Given the description of an element on the screen output the (x, y) to click on. 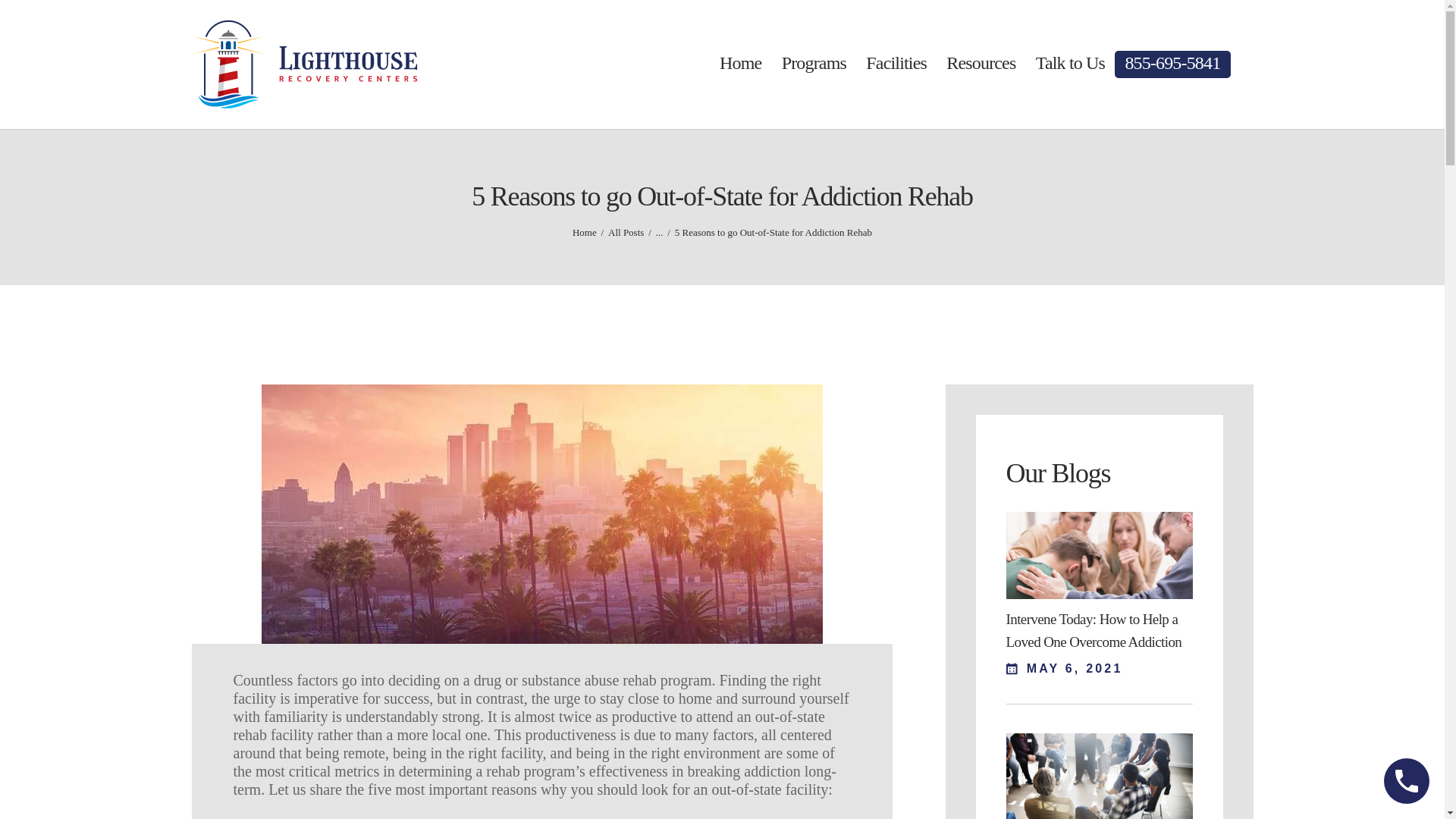
Facilities (896, 63)
Resources (980, 63)
Talk to Us (1070, 63)
Home (740, 63)
855-695-5841 (1172, 63)
All Posts (625, 232)
Home (584, 232)
Programs (813, 63)
